Given the description of an element on the screen output the (x, y) to click on. 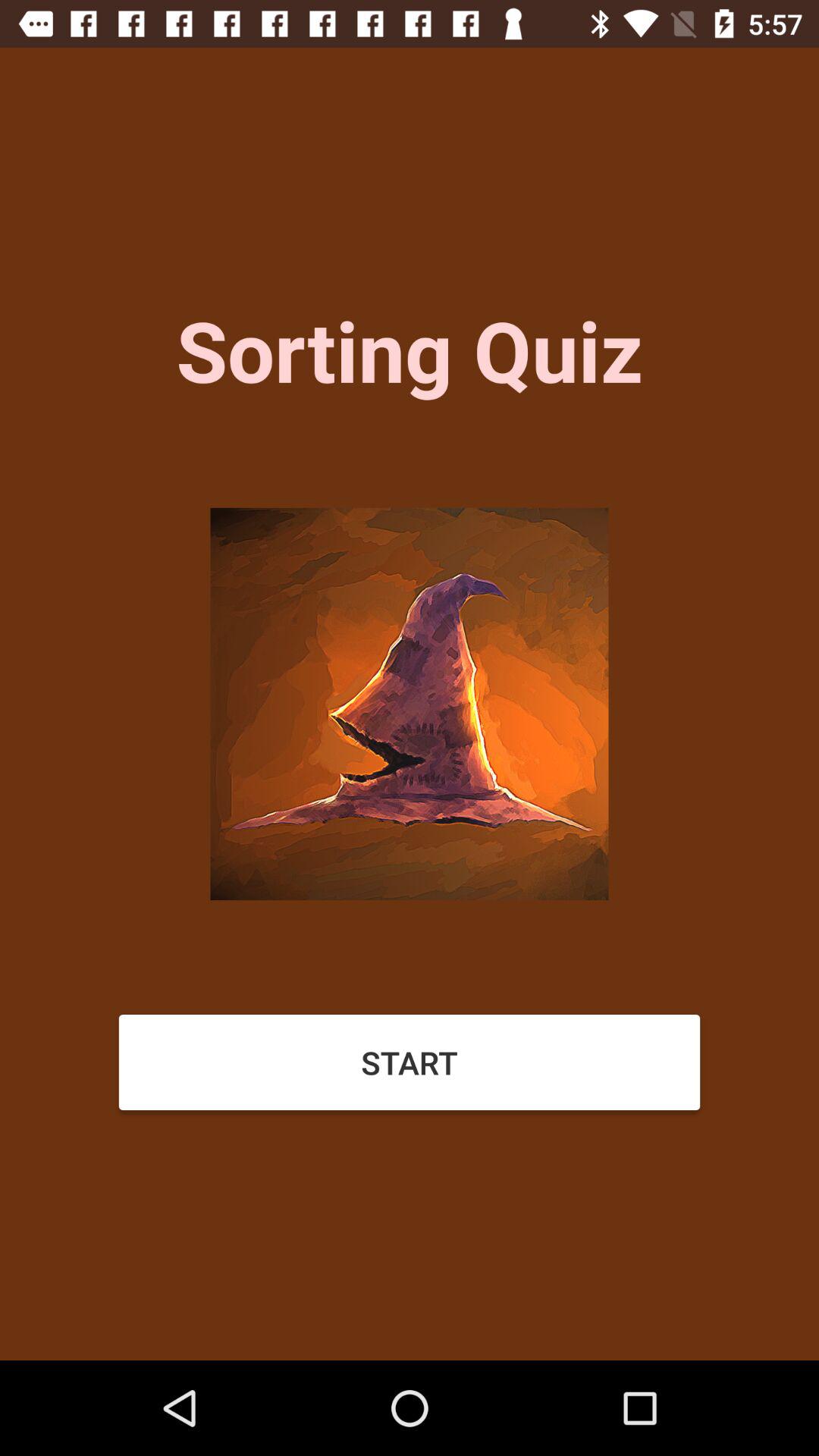
jump to the start (409, 1062)
